Given the description of an element on the screen output the (x, y) to click on. 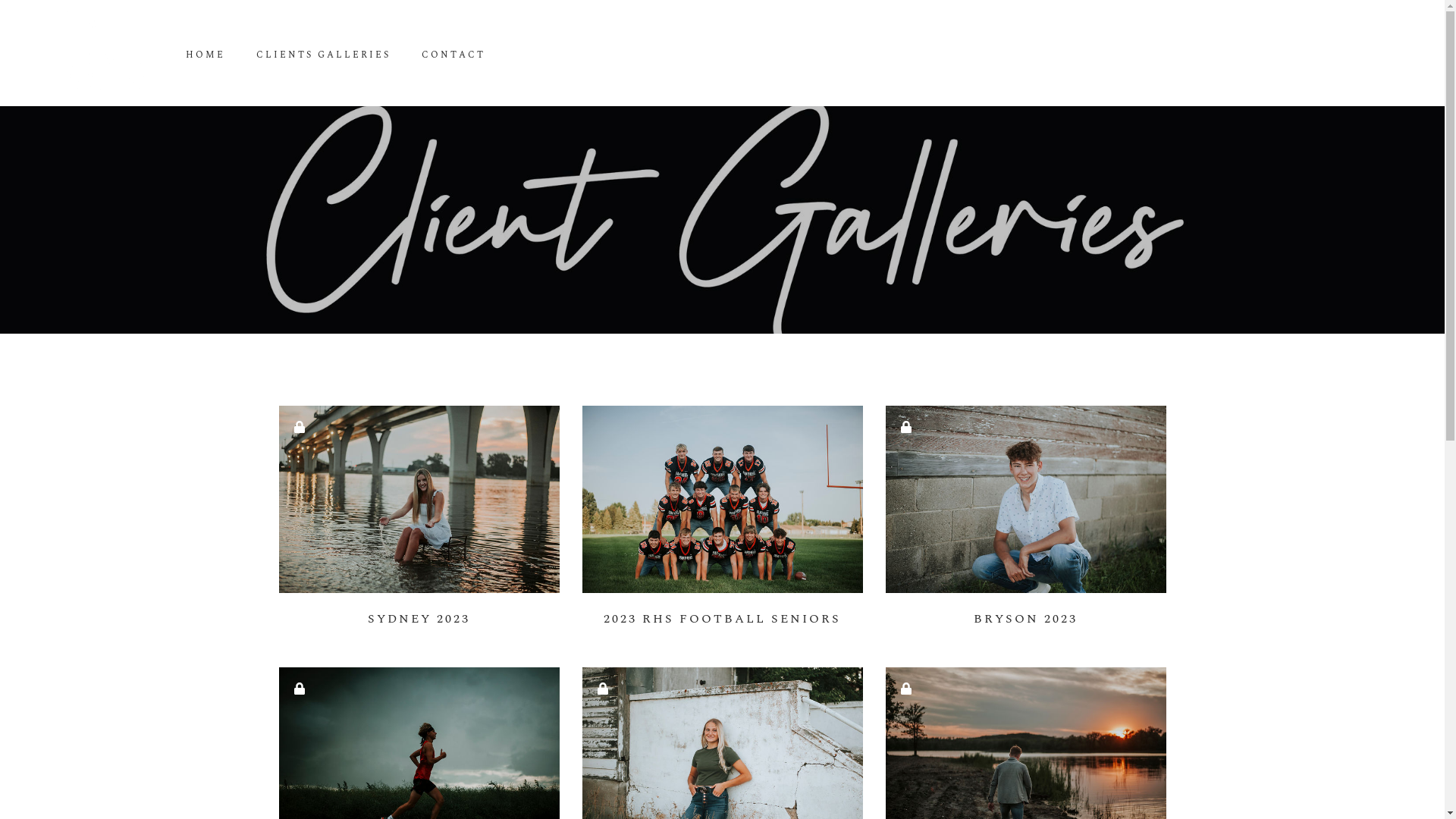
CLIENTS GALLERIES Element type: text (322, 55)
HOME Element type: text (205, 55)
CONTACT Element type: text (452, 55)
SYDNEY 2023 Element type: text (419, 524)
2023 RHS FOOTBALL SENIORS Element type: text (722, 524)
BRYSON 2023 Element type: text (1025, 524)
